Given the description of an element on the screen output the (x, y) to click on. 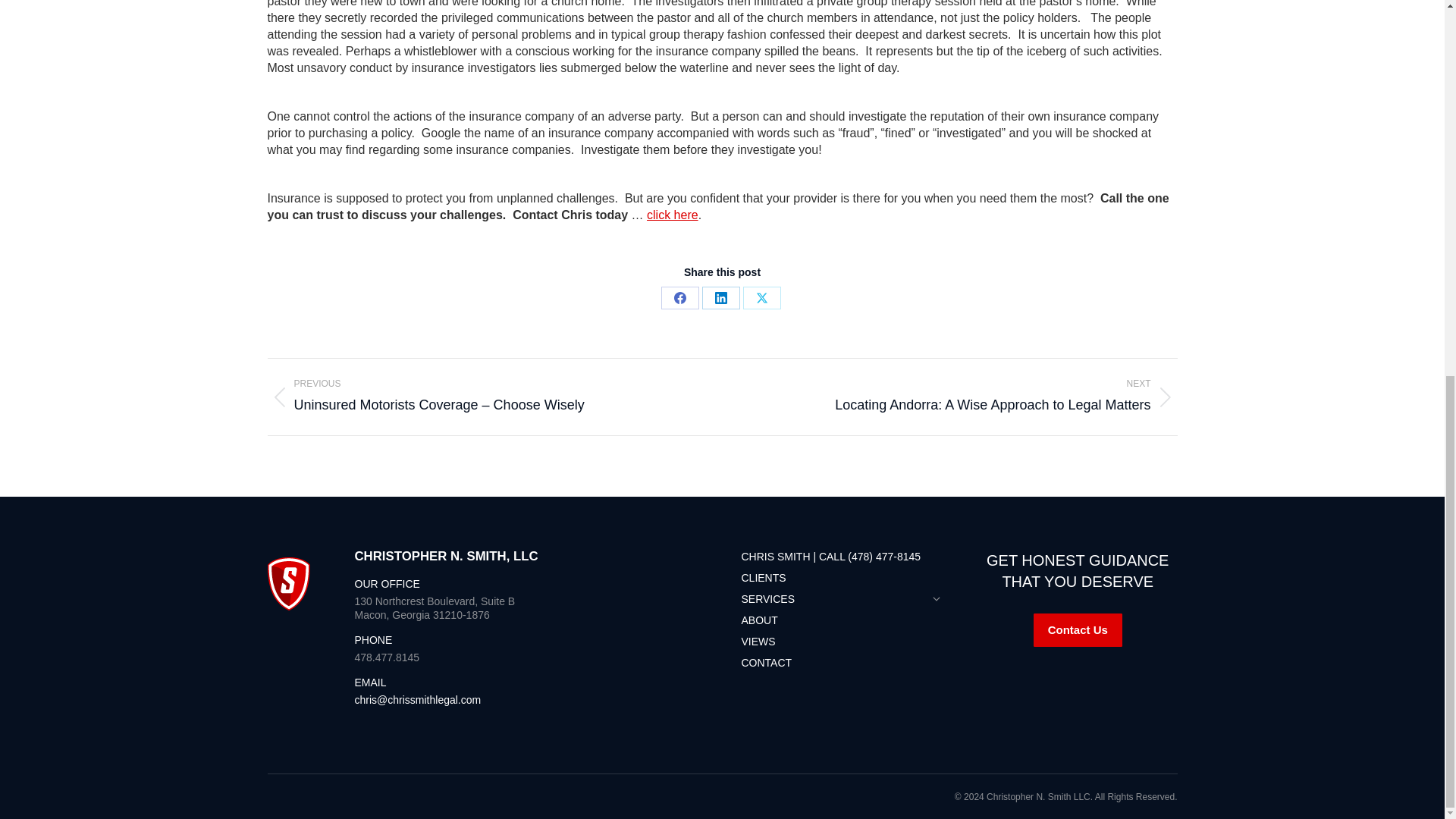
Share on X (761, 297)
LinkedIn (720, 297)
click here (672, 214)
Share on LinkedIn (720, 297)
X (761, 297)
Facebook (679, 297)
Share on Facebook (679, 297)
